Given the description of an element on the screen output the (x, y) to click on. 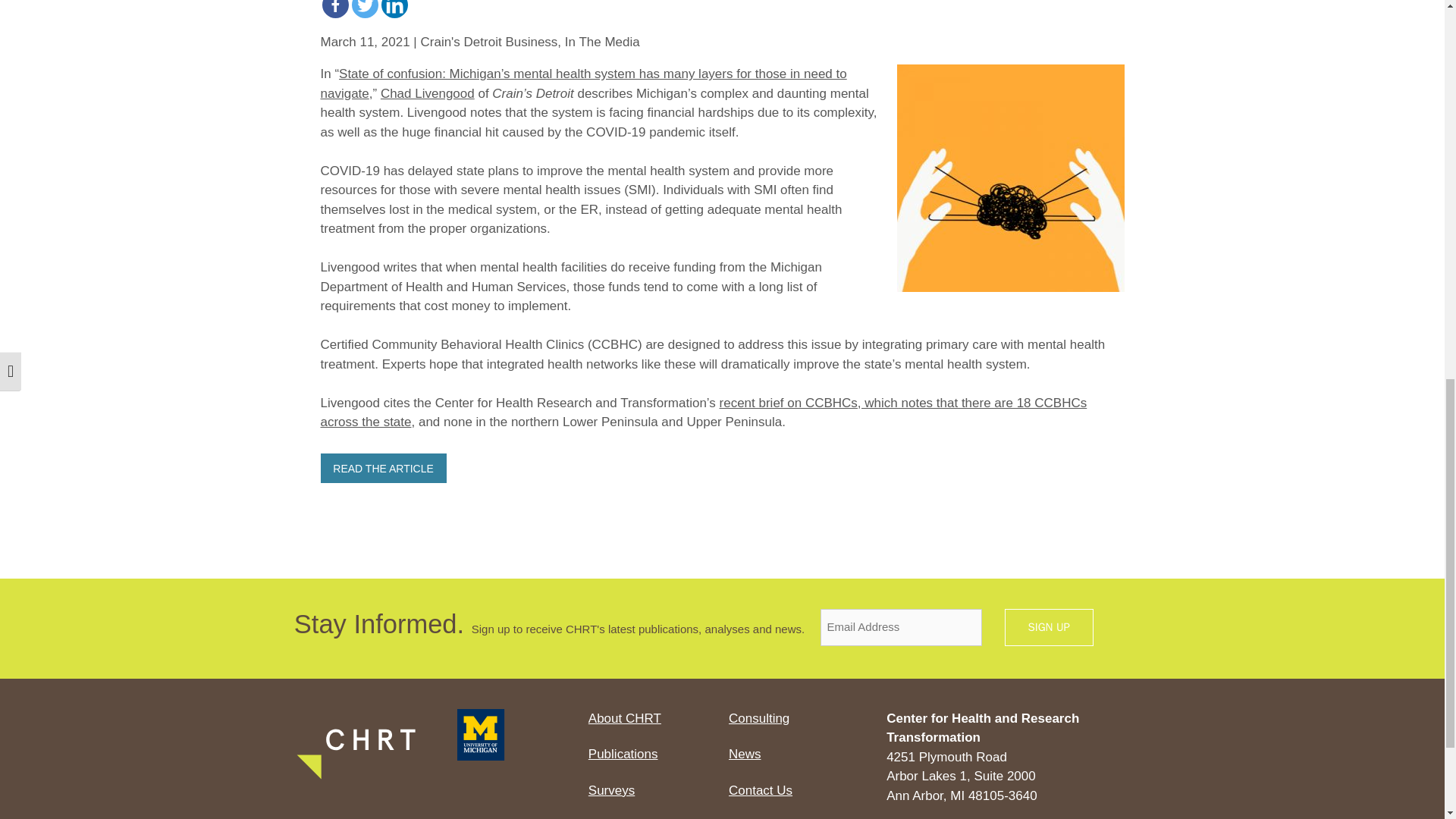
Facebook (334, 9)
Twitter (365, 9)
Linkedin (393, 9)
Scroll back to top (1406, 720)
Sign Up (1048, 627)
